Given the description of an element on the screen output the (x, y) to click on. 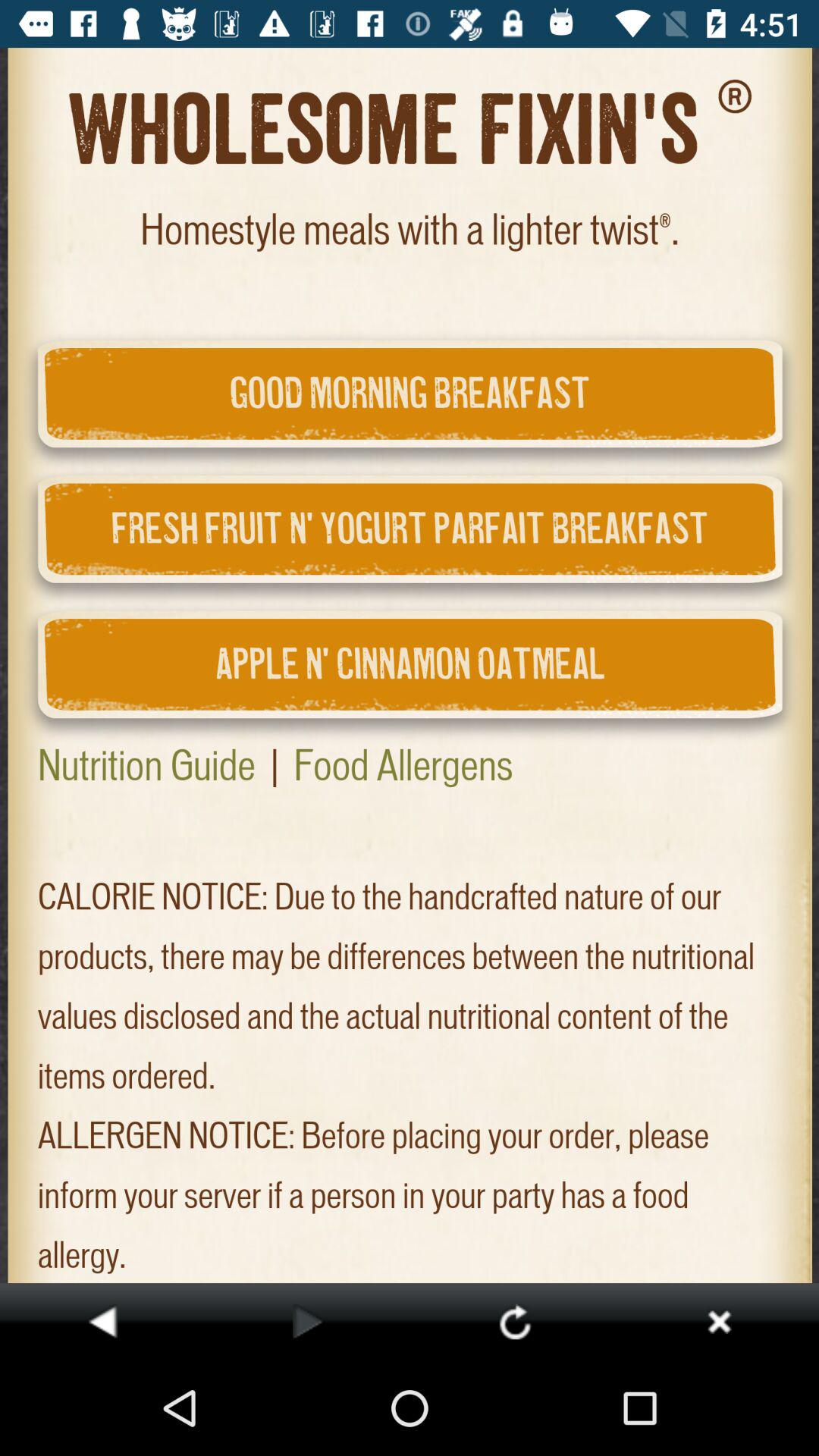
refresh (514, 1321)
